Given the description of an element on the screen output the (x, y) to click on. 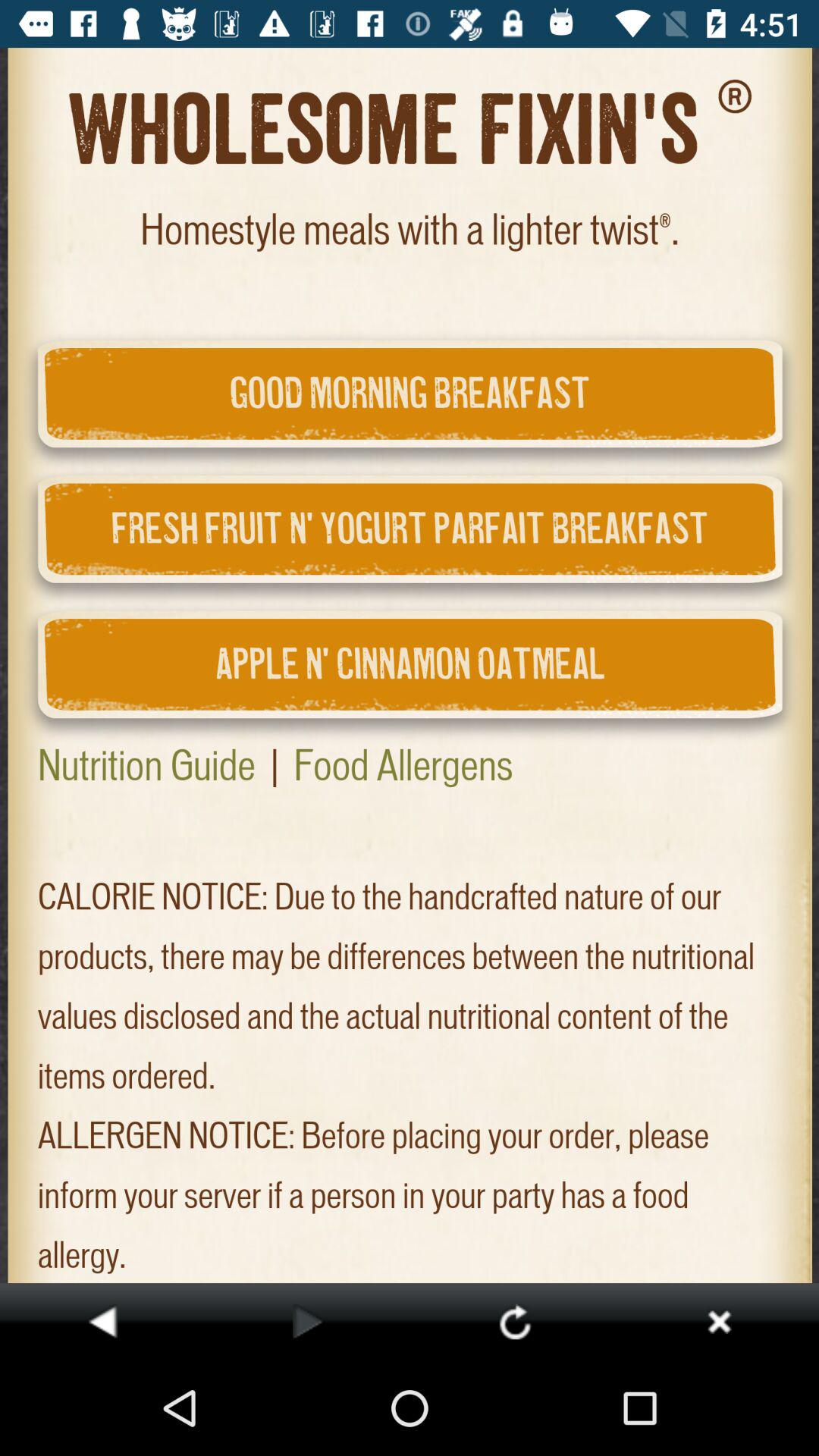
refresh (514, 1321)
